Given the description of an element on the screen output the (x, y) to click on. 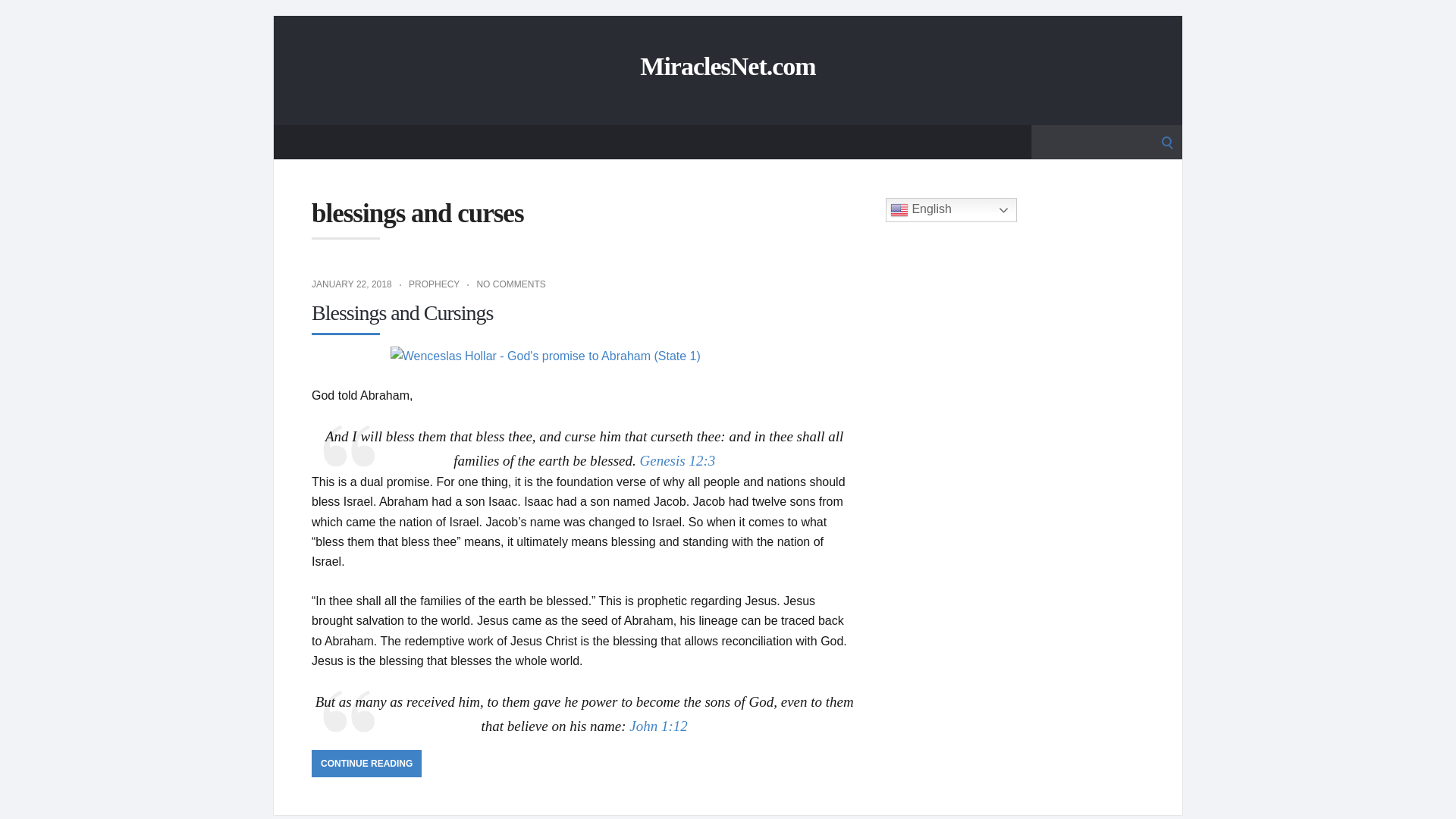
PROPHECY (434, 284)
Blessings and Cursings (402, 312)
CONTINUE READING (366, 763)
Search (16, 17)
Genesis 12:3 (678, 460)
John 1:12 (657, 725)
English (950, 209)
MiraclesNet.com (727, 66)
NO COMMENTS (510, 284)
Wenceslaus Hollar , Public domain, via Wikimedia Commons (584, 356)
